Given the description of an element on the screen output the (x, y) to click on. 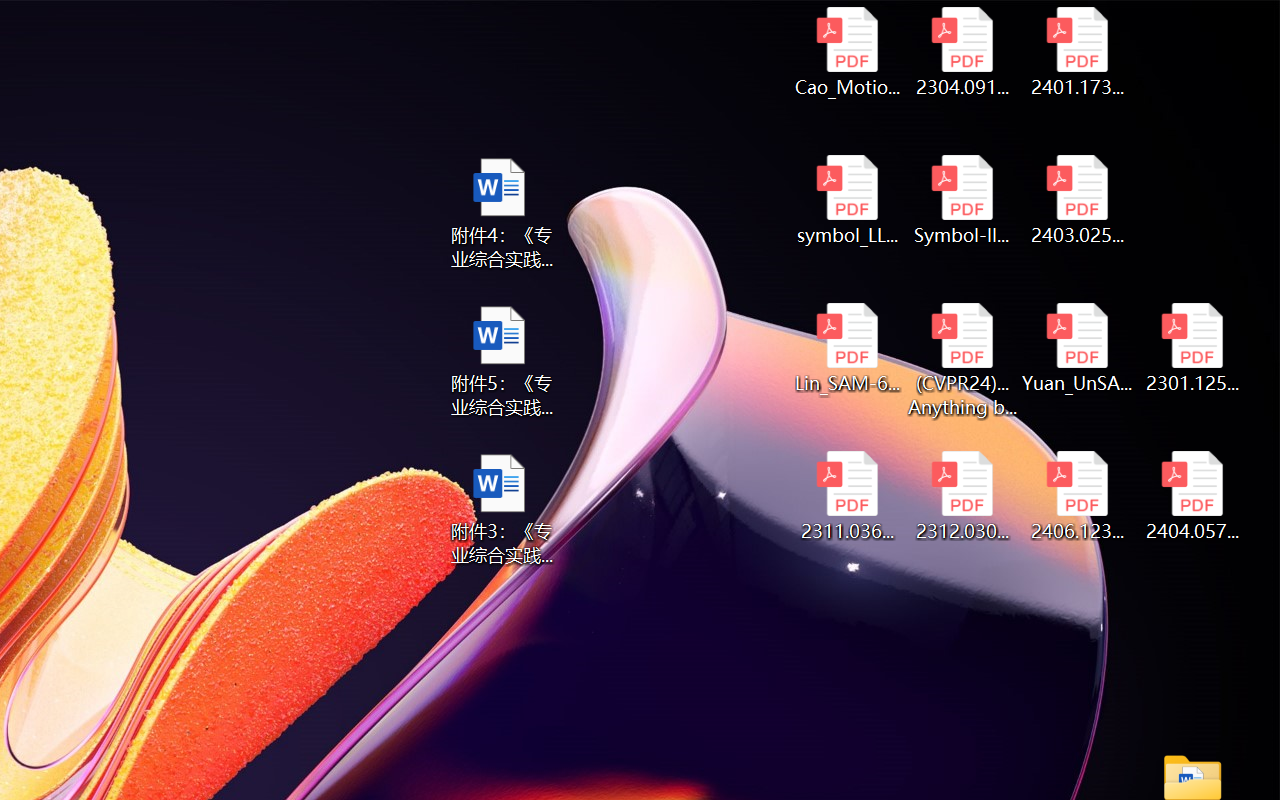
2403.02502v1.pdf (1077, 200)
2401.17399v1.pdf (1077, 52)
